Given the description of an element on the screen output the (x, y) to click on. 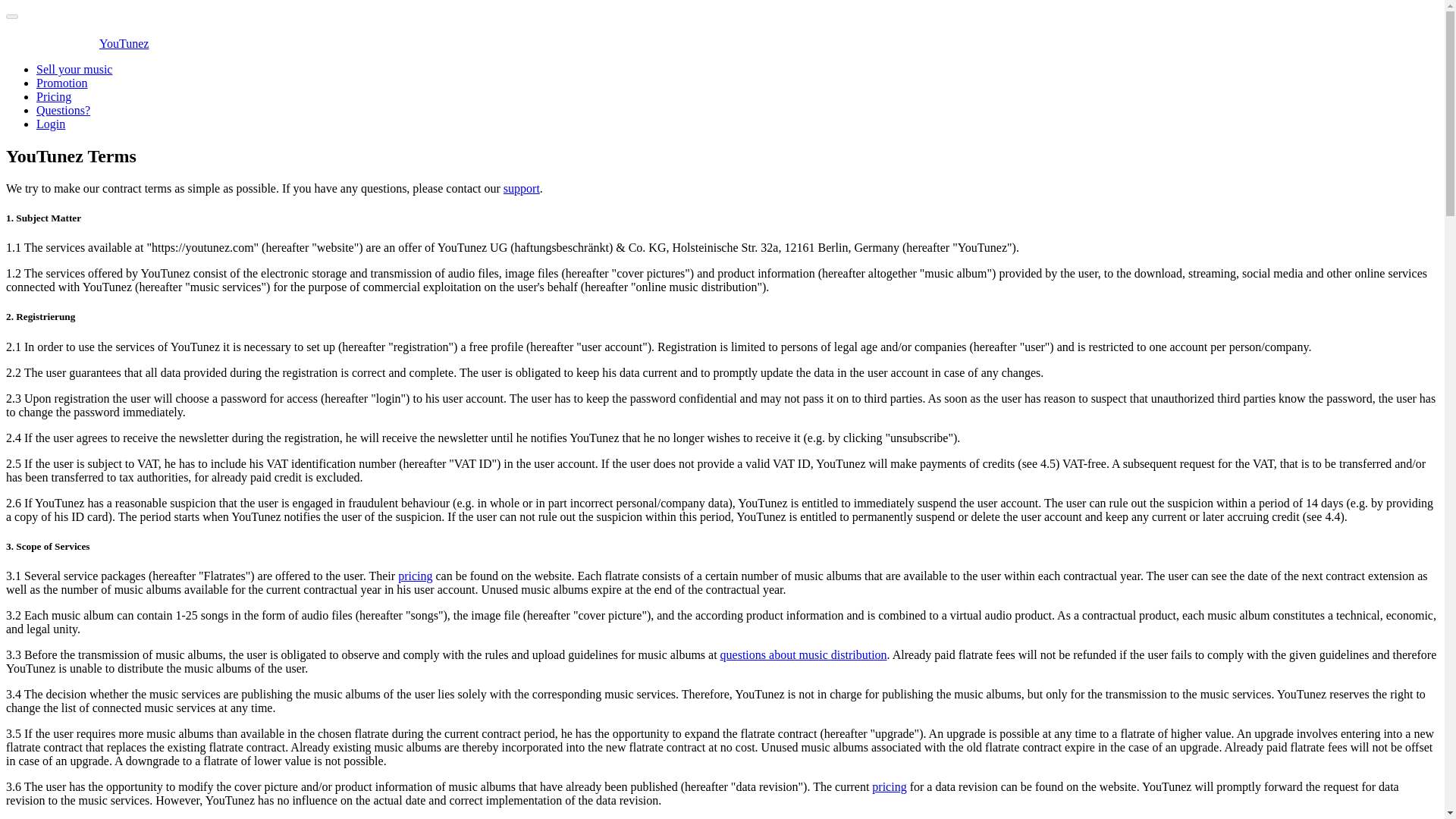
Questions about Music Distribution (888, 786)
questions about music distribution (803, 654)
Questions about Music Distribution (803, 654)
YouTunez (76, 42)
Sell your music (74, 69)
pricing (888, 786)
YouTunez Support (521, 187)
Promotion (61, 82)
Music Distribution Flatrate (414, 575)
Login (50, 123)
Questions? (63, 110)
support (521, 187)
Pricing (53, 96)
pricing (414, 575)
